Given the description of an element on the screen output the (x, y) to click on. 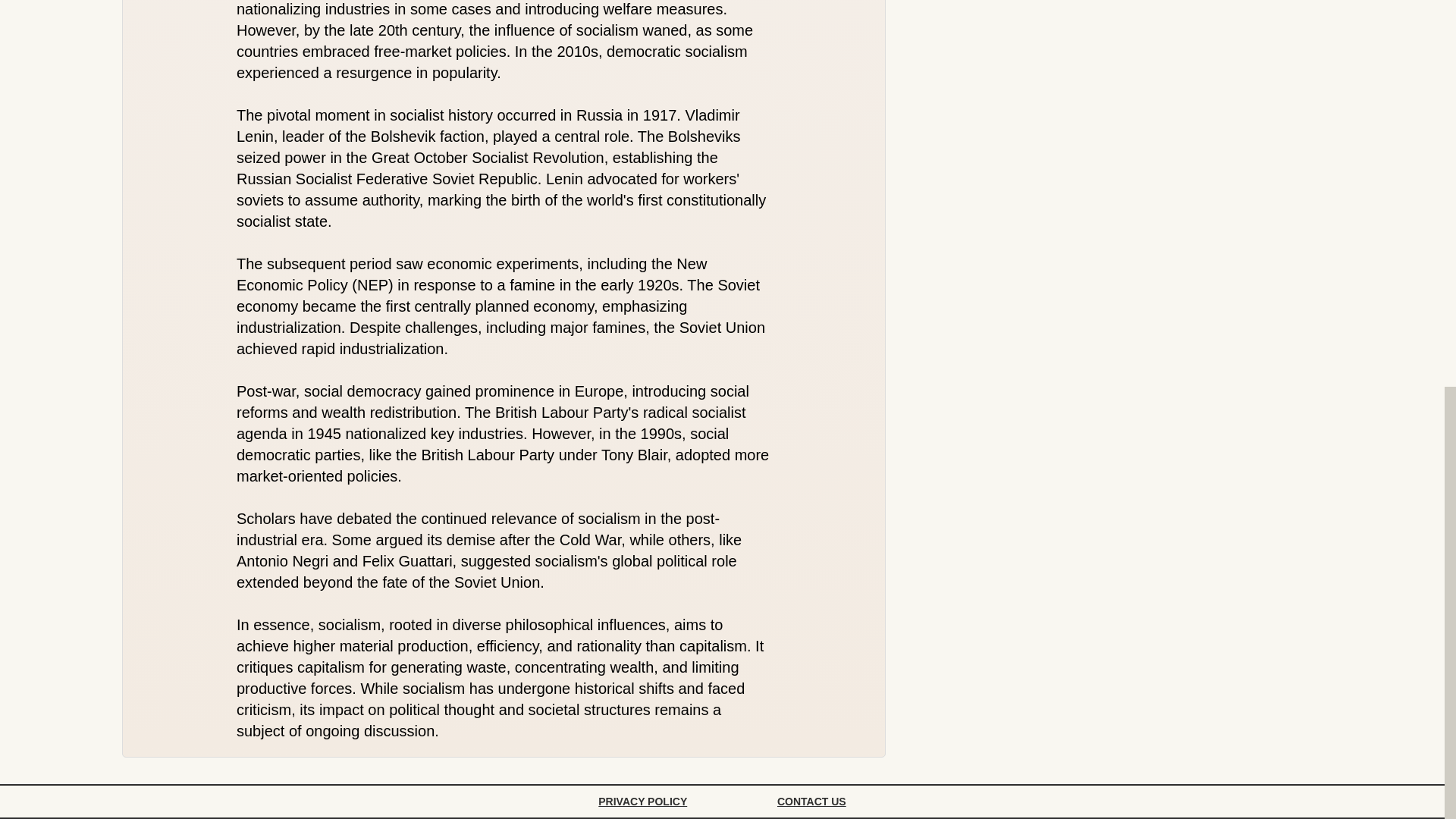
CONTACT US (811, 801)
PRIVACY POLICY (642, 801)
